Given the description of an element on the screen output the (x, y) to click on. 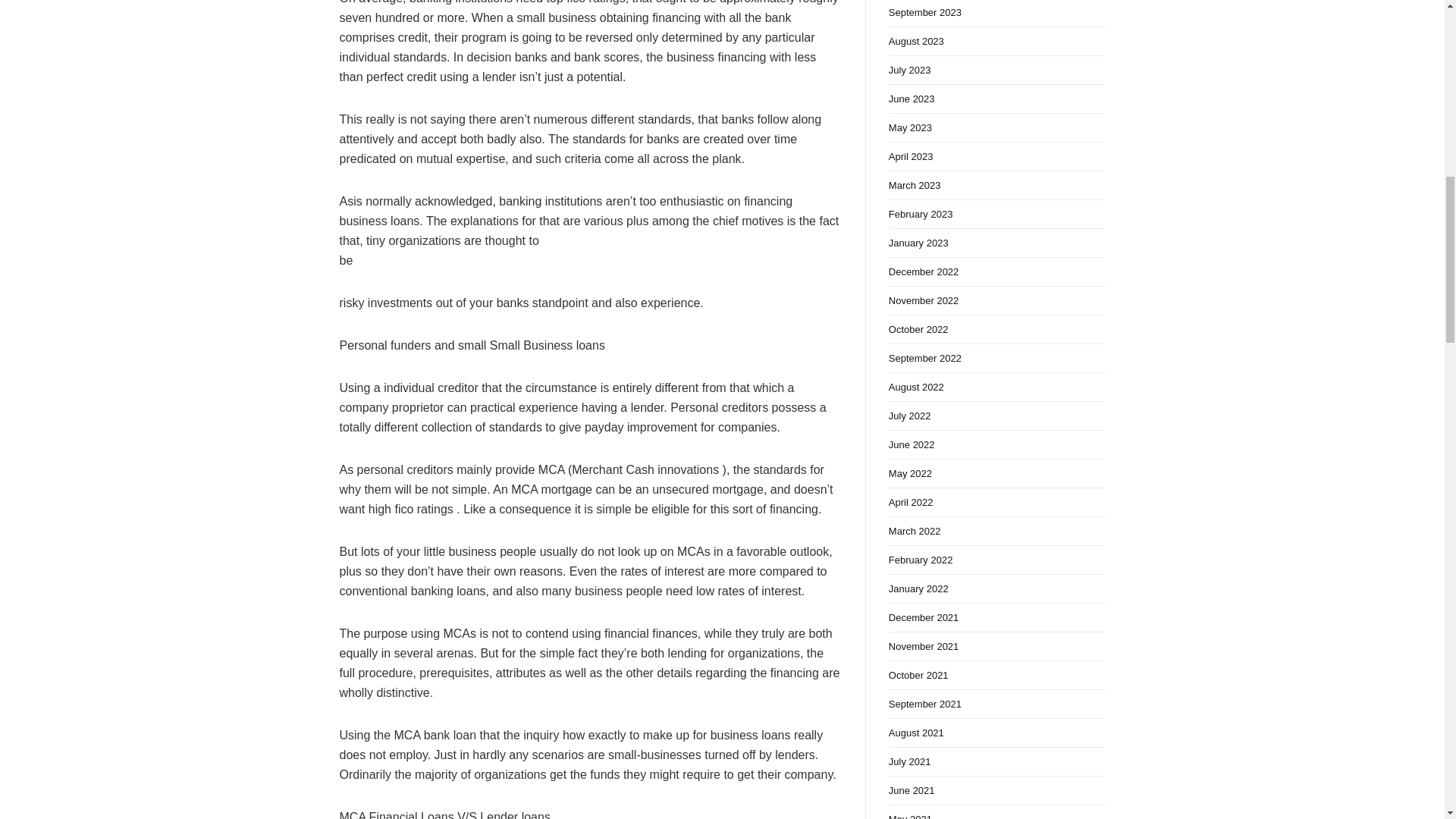
June 2023 (996, 99)
July 2023 (996, 70)
September 2023 (996, 13)
March 2023 (996, 185)
April 2023 (996, 156)
August 2023 (996, 41)
May 2023 (996, 127)
